Given the description of an element on the screen output the (x, y) to click on. 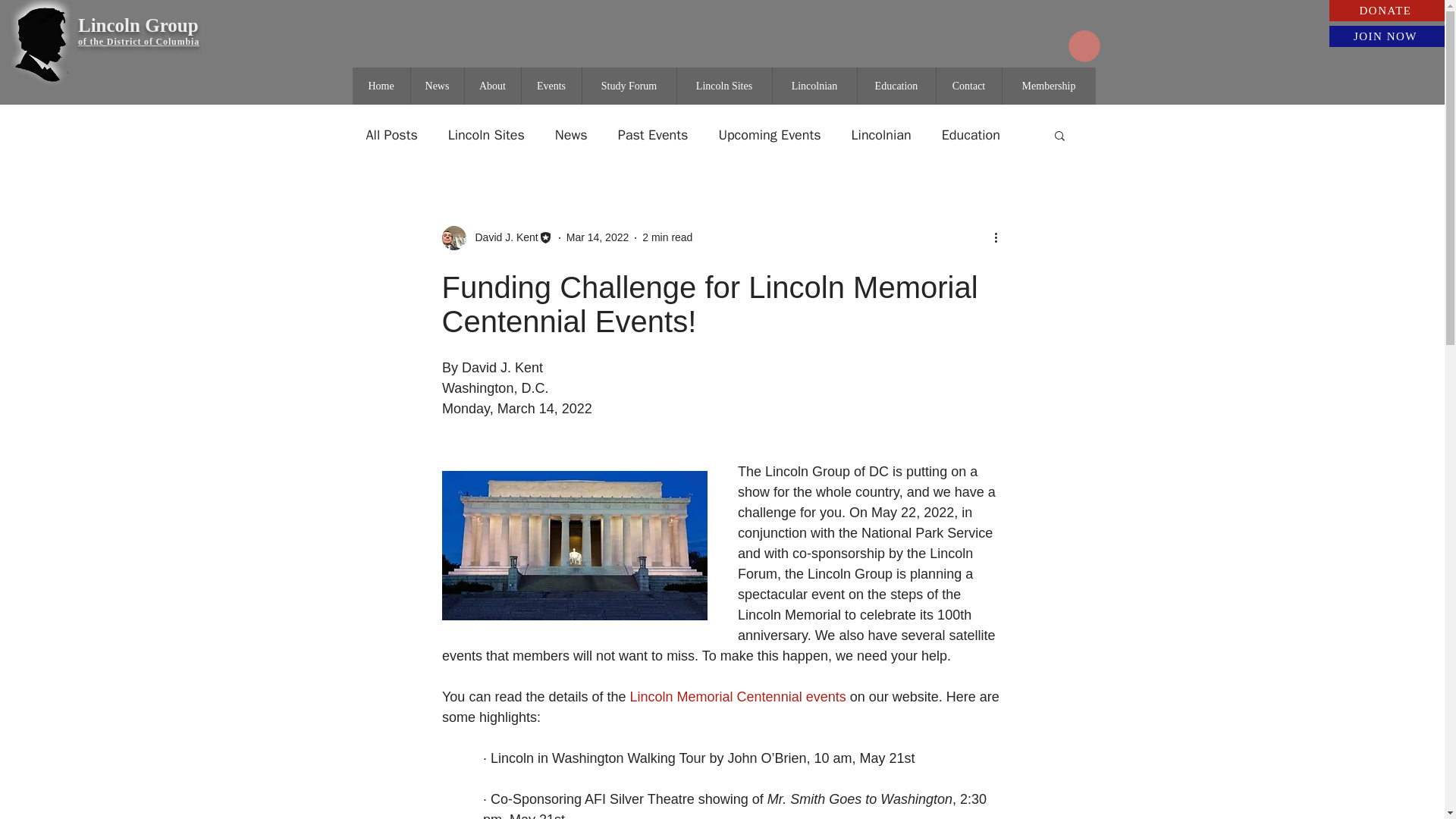
Education (896, 85)
Upcoming Events (769, 135)
News (571, 135)
About (492, 85)
Lincoln Sites (486, 135)
Contact (968, 85)
of the District of Columbia (138, 41)
Study Forum (627, 85)
Membership (1047, 85)
All Posts (390, 135)
News (436, 85)
Education (971, 135)
Lincoln Group (138, 25)
2 min read (667, 236)
Mar 14, 2022 (597, 236)
